Given the description of an element on the screen output the (x, y) to click on. 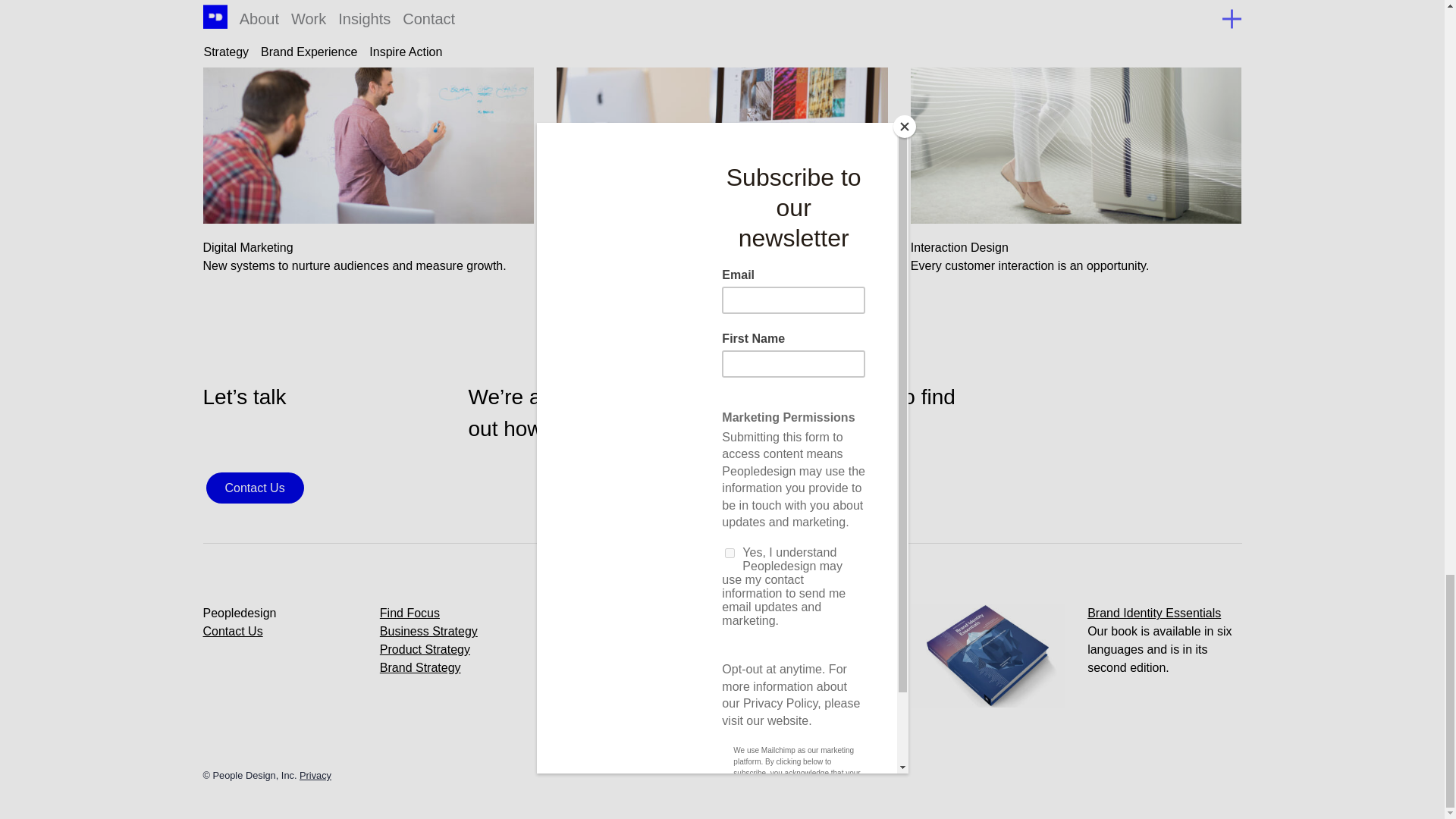
Contact Us (255, 488)
